Given the description of an element on the screen output the (x, y) to click on. 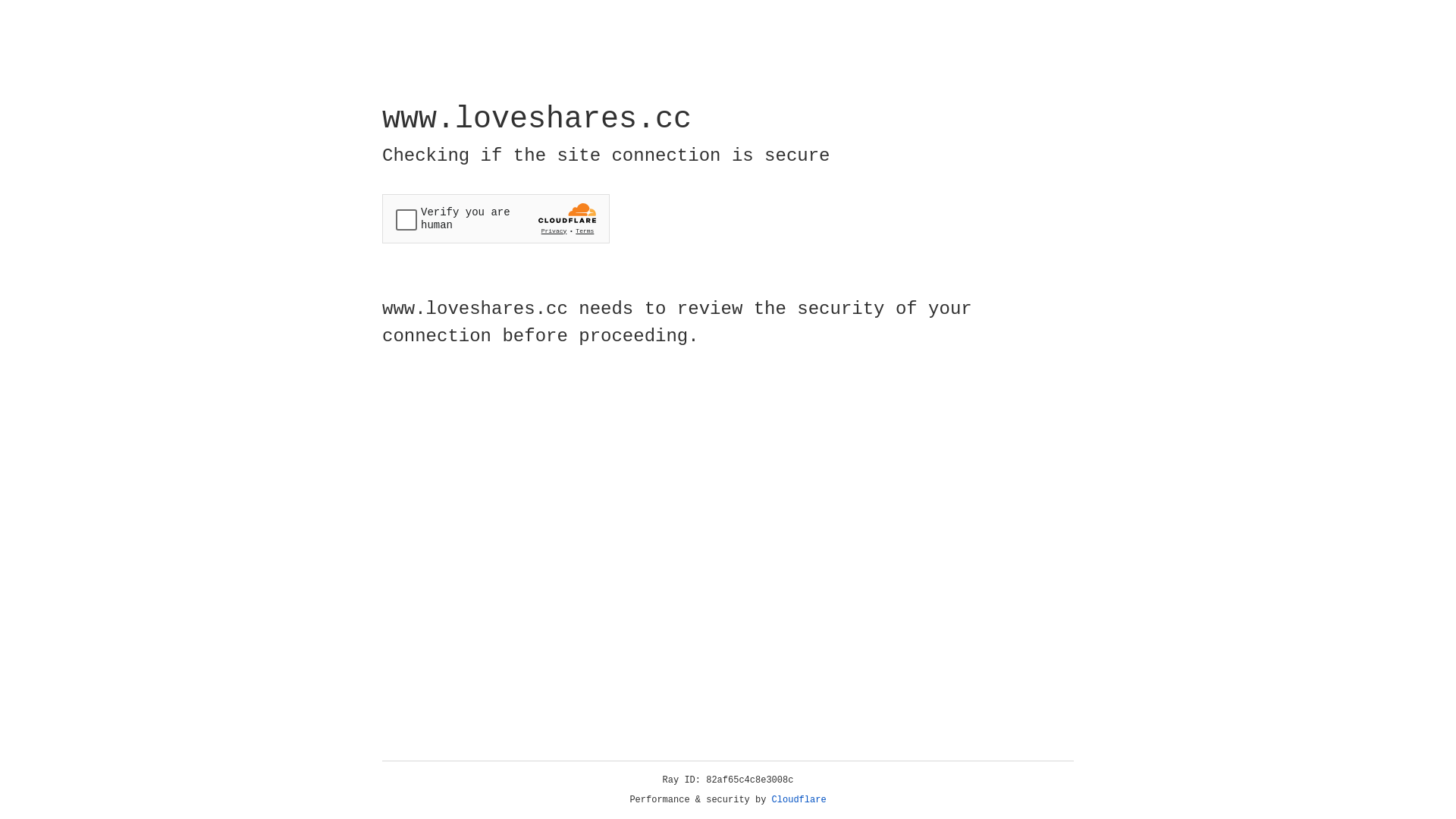
Widget containing a Cloudflare security challenge Element type: hover (495, 218)
Cloudflare Element type: text (798, 799)
